Given the description of an element on the screen output the (x, y) to click on. 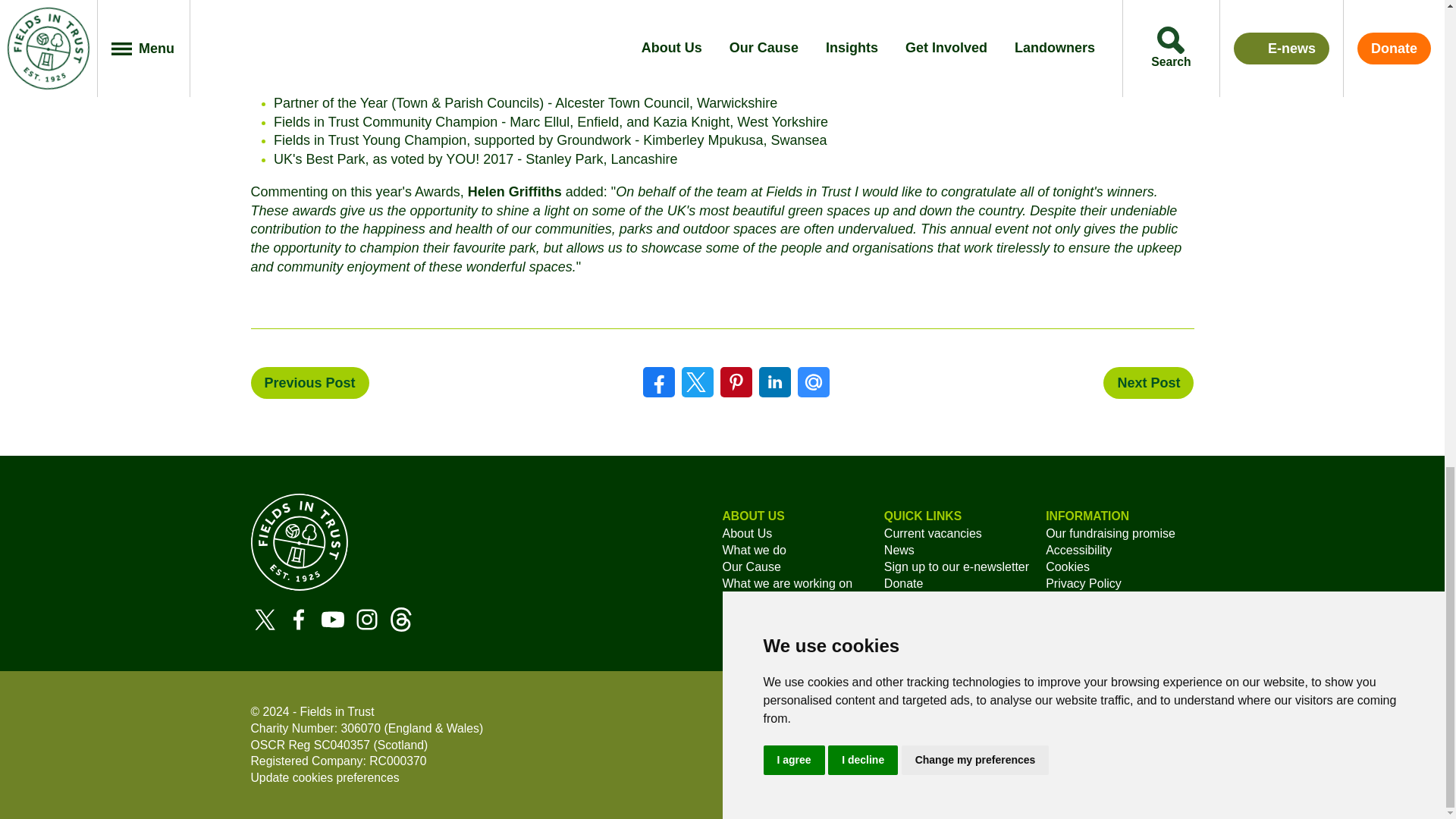
The Scottish Charity Regulator (267, 744)
